Given the description of an element on the screen output the (x, y) to click on. 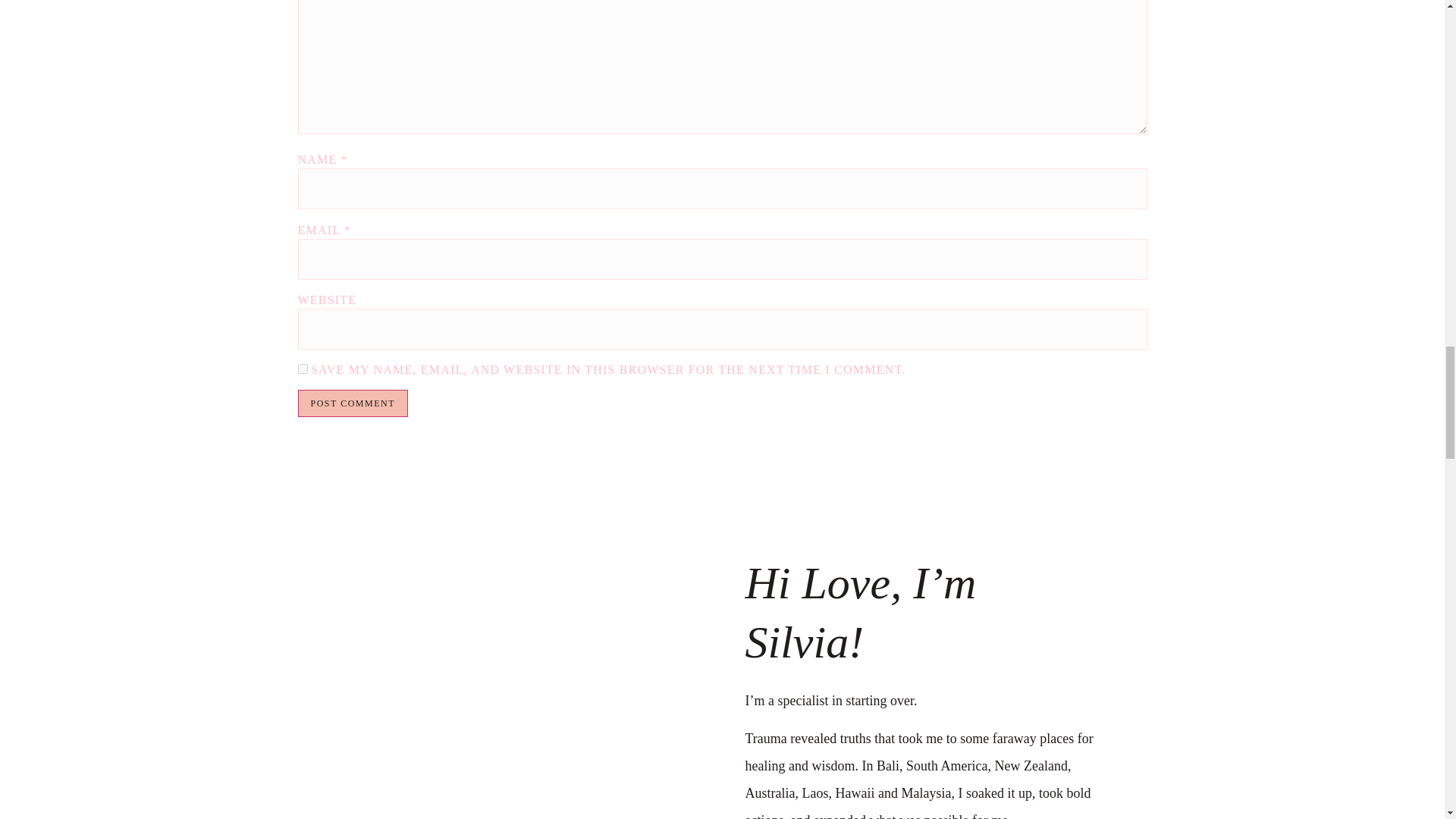
yes (302, 368)
Post Comment (352, 402)
Post Comment (352, 402)
